Given the description of an element on the screen output the (x, y) to click on. 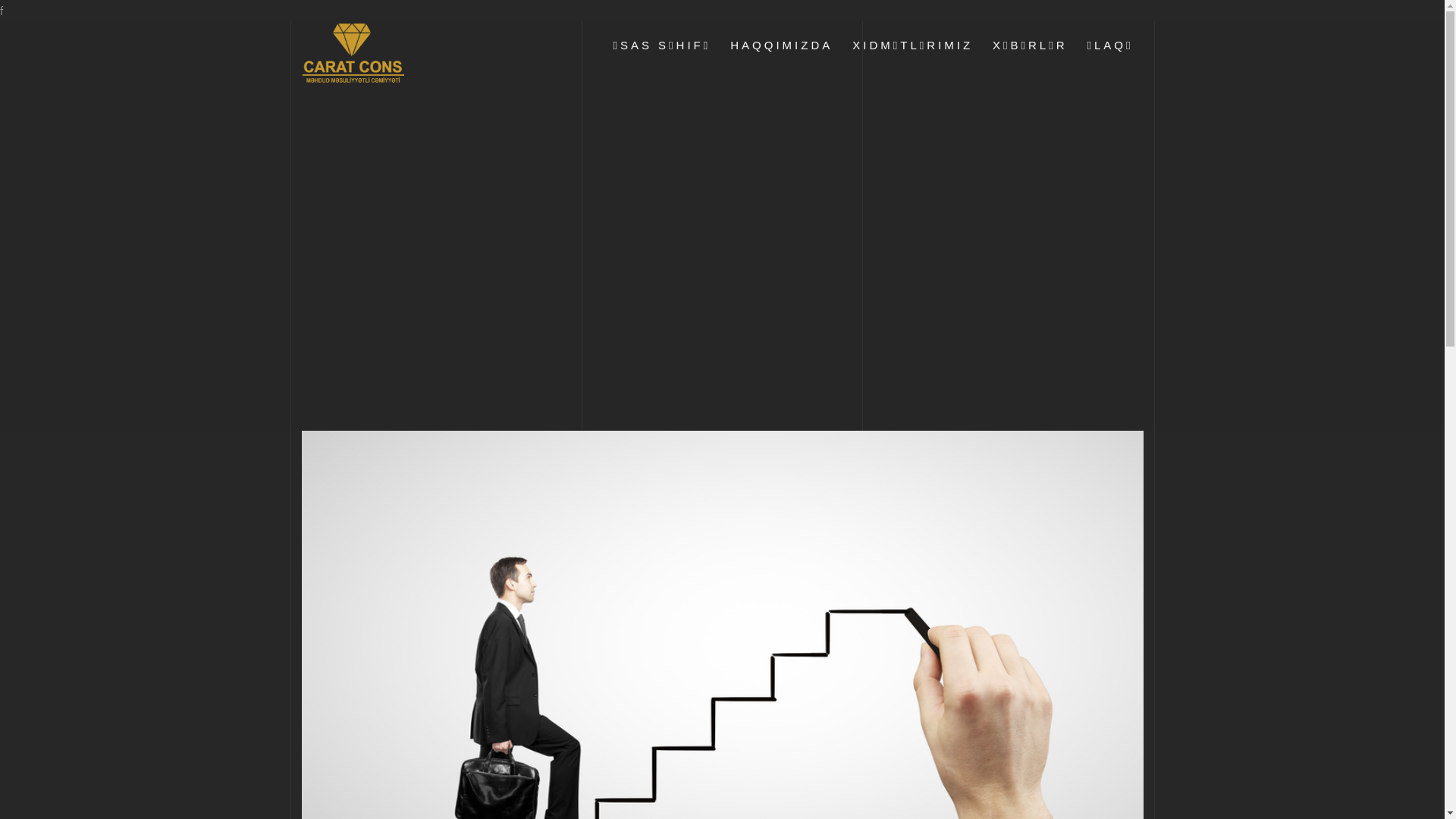
HAQQIMIZDA Element type: text (781, 45)
